Given the description of an element on the screen output the (x, y) to click on. 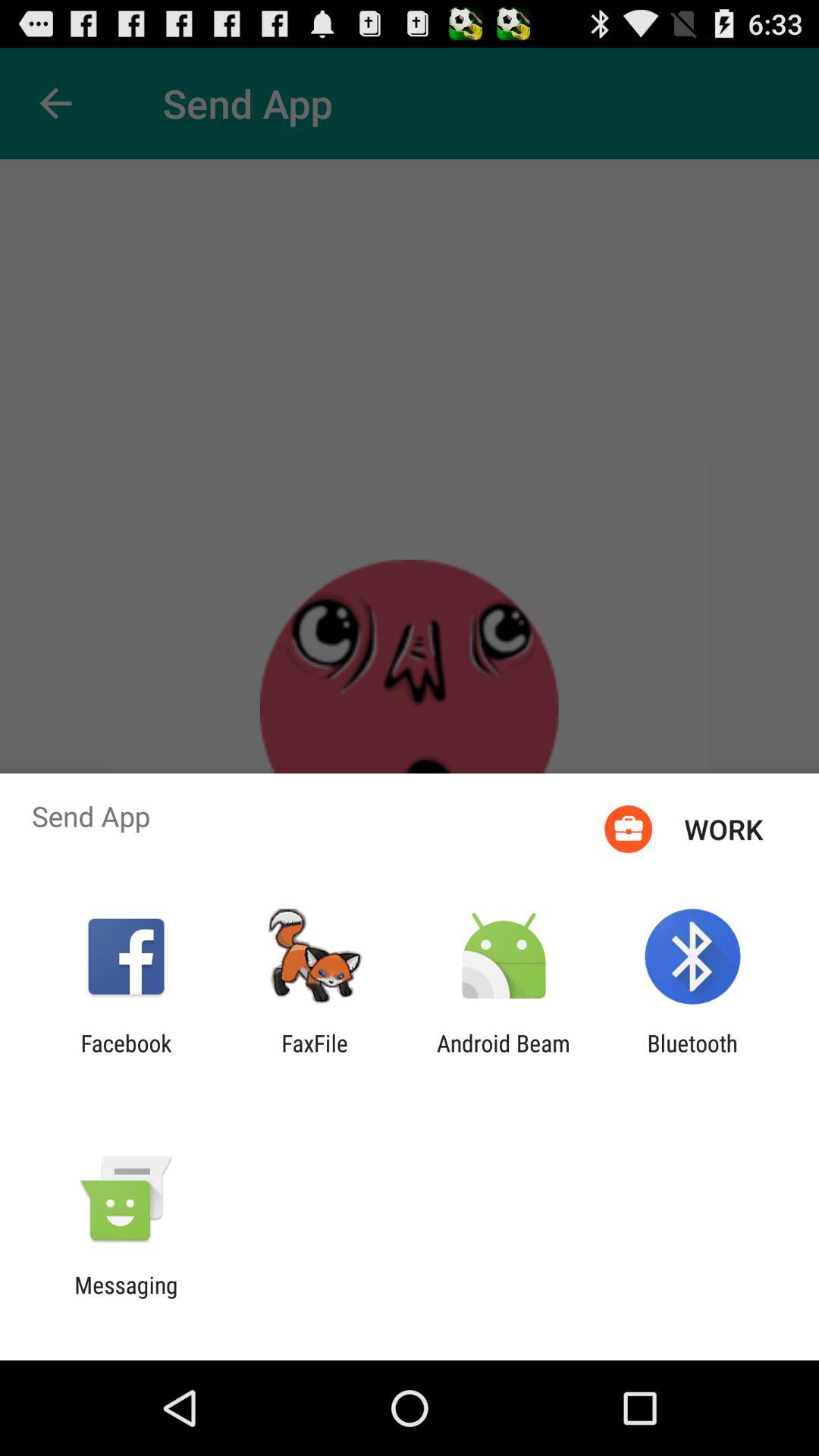
flip until the bluetooth app (692, 1056)
